Given the description of an element on the screen output the (x, y) to click on. 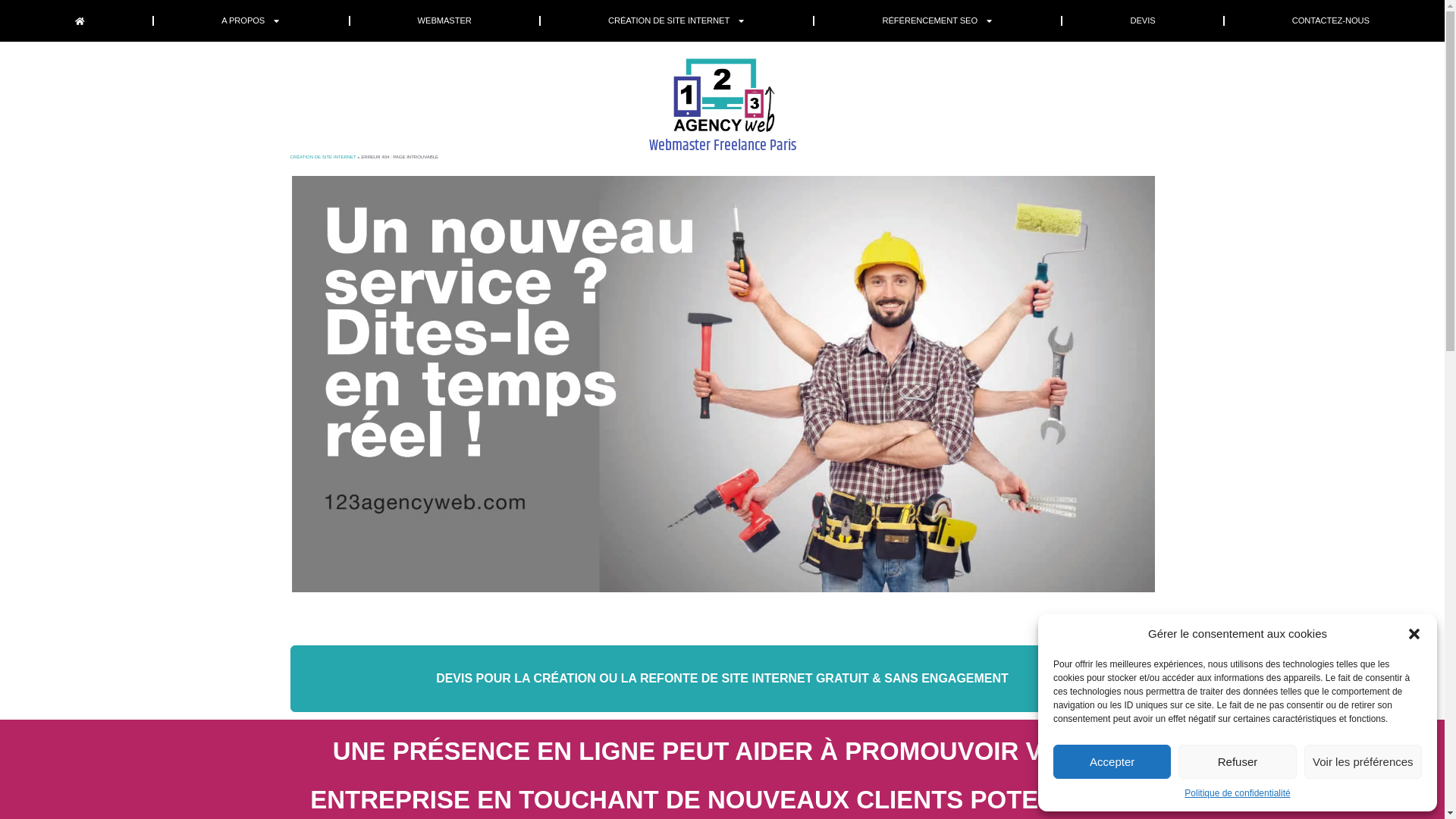
WEBMASTER Element type: text (444, 20)
Accepter Element type: text (1111, 761)
DEVIS Element type: text (1142, 20)
A PROPOS Element type: text (250, 20)
CONTACTEZ-NOUS Element type: text (1330, 20)
Refuser Element type: text (1236, 761)
